Given the description of an element on the screen output the (x, y) to click on. 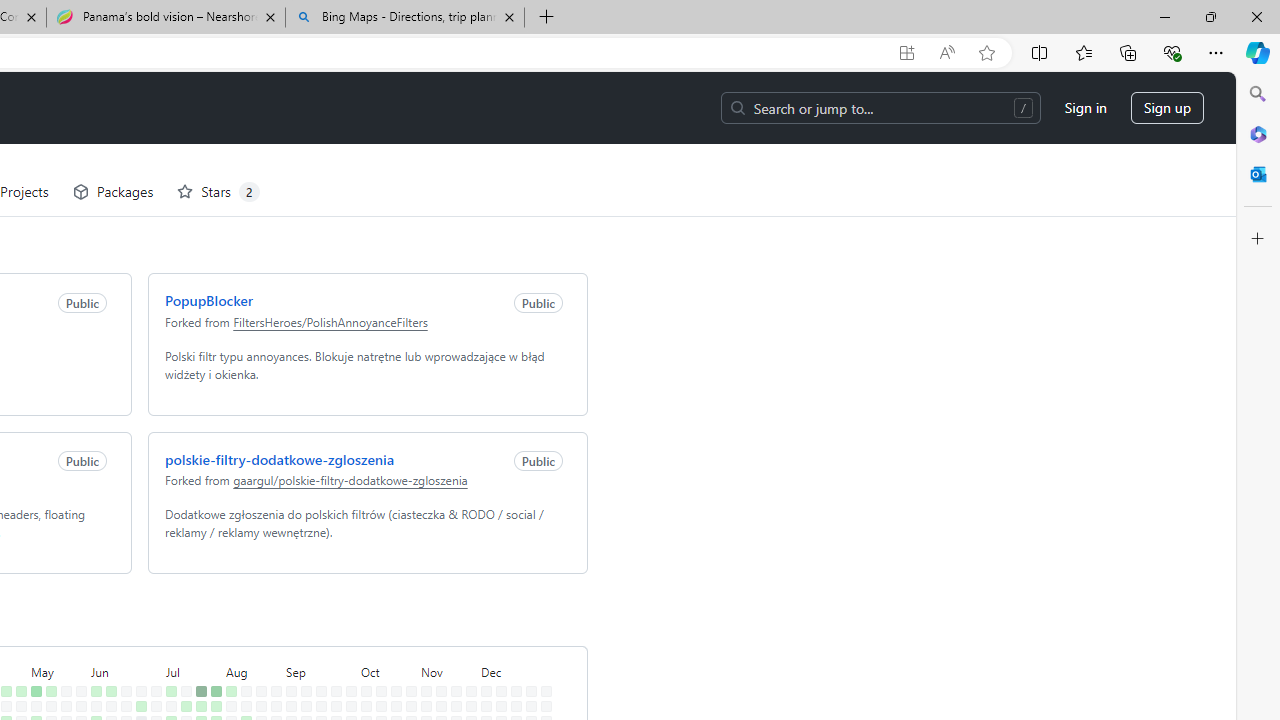
No contributions on October 24th. (392, 678)
3 contributions on July 17th. (182, 664)
No contributions on September 5th. (287, 678)
No contributions on August 26th. (272, 634)
No contributions on October 11th. (362, 694)
2 contributions on June 28th. (137, 694)
1 contribution on May 7th. (32, 649)
gaargul/polskie-filtry-dodatkowe-zgloszenia (346, 408)
No contributions on July 4th. (152, 678)
No contributions on October 21st. (392, 634)
May (54, 598)
